Given the description of an element on the screen output the (x, y) to click on. 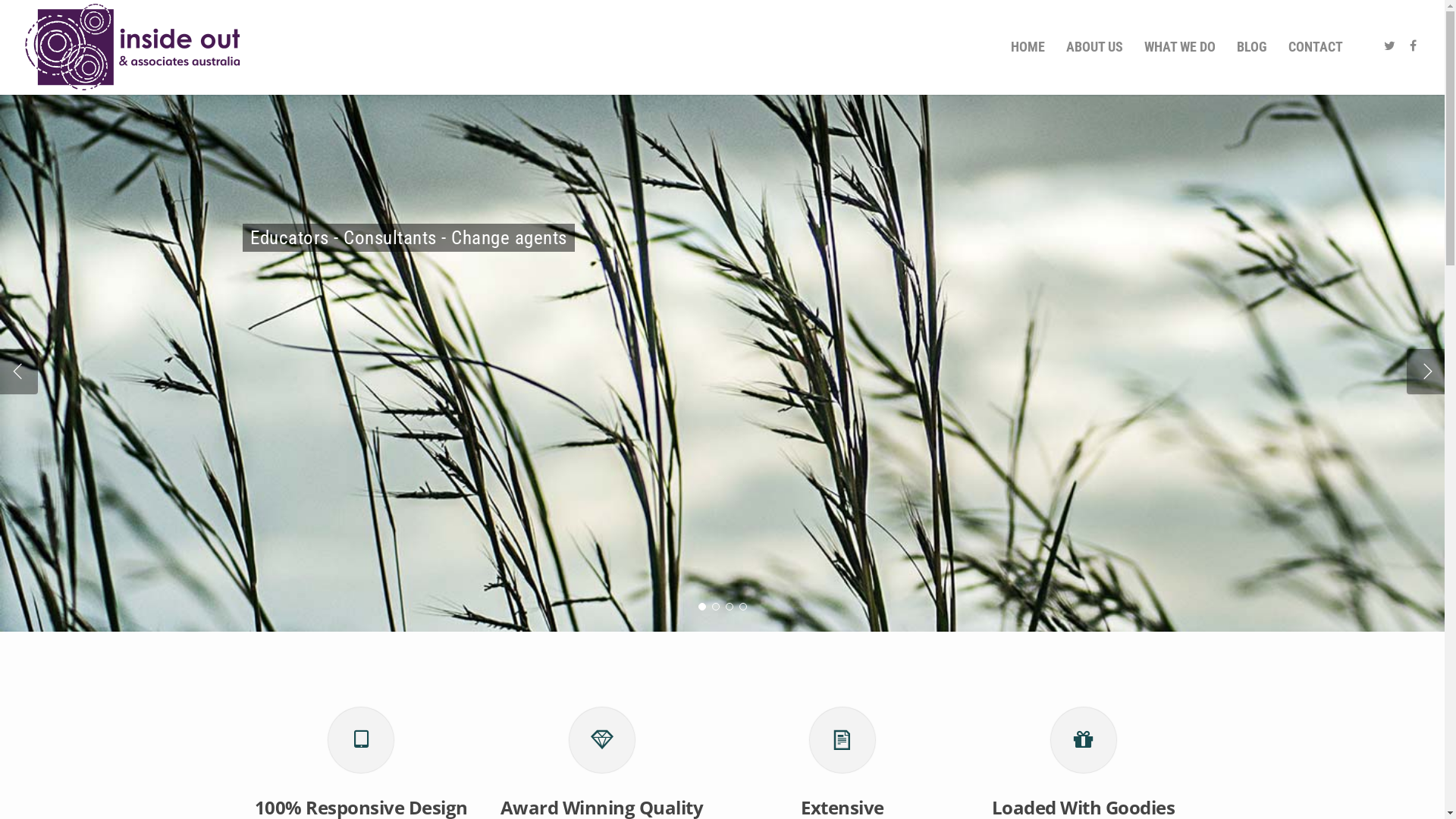
CONTACT Element type: text (1315, 46)
ABOUT US Element type: text (1094, 46)
WHAT WE DO Element type: text (1179, 46)
HOME Element type: text (1027, 46)
BLOG Element type: text (1251, 46)
